Given the description of an element on the screen output the (x, y) to click on. 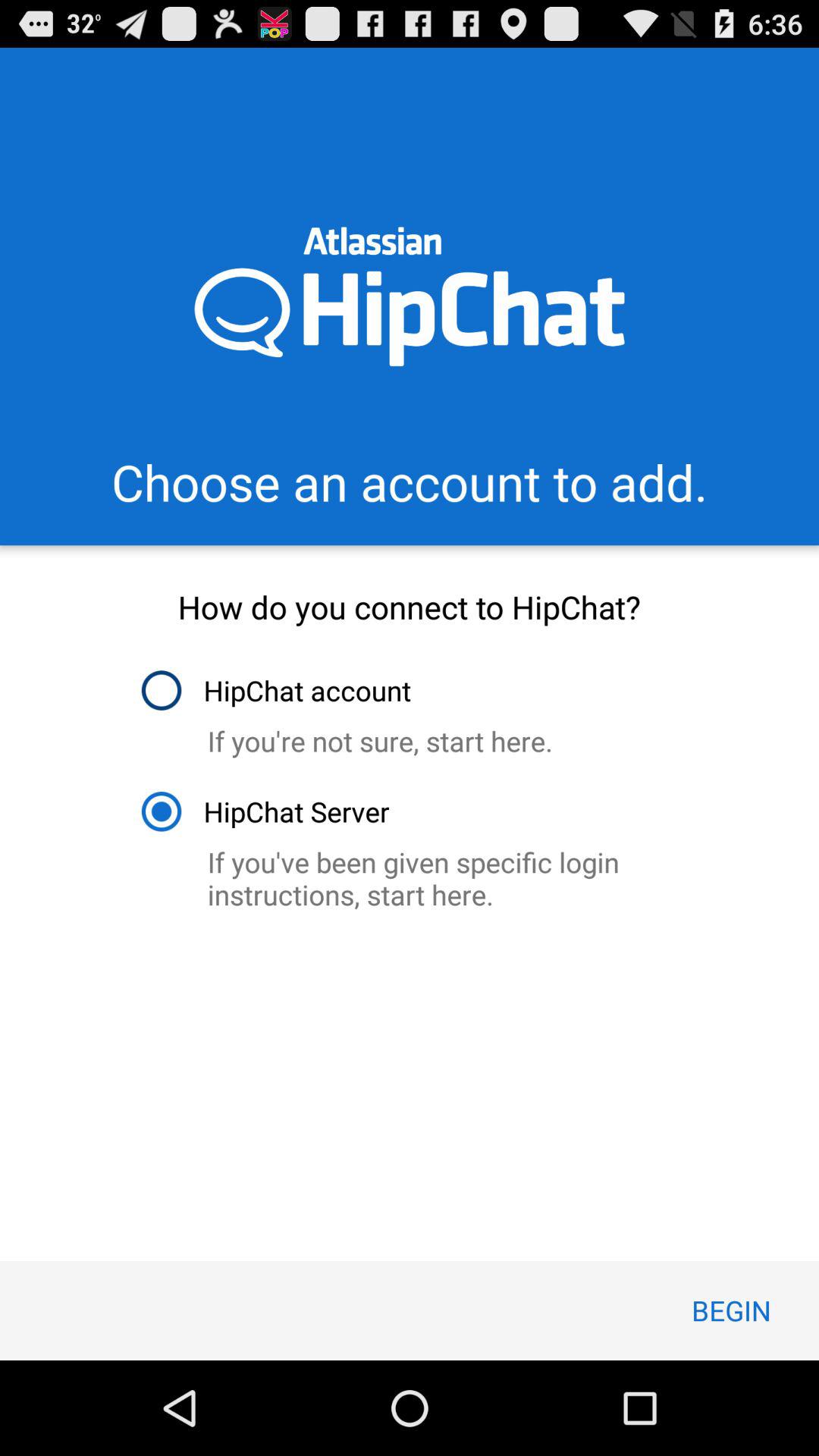
launch item below if you re item (264, 811)
